Given the description of an element on the screen output the (x, y) to click on. 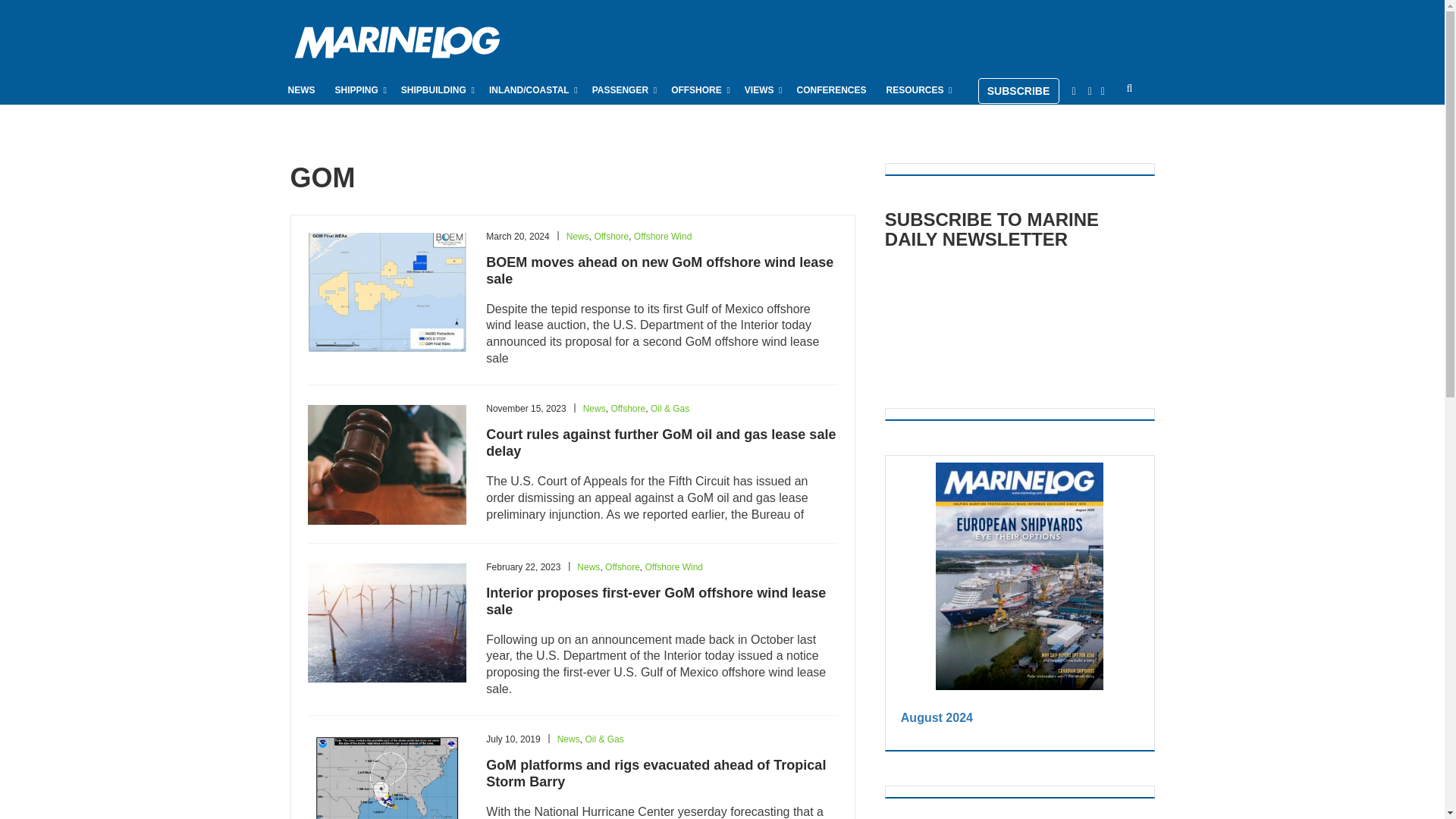
News (301, 89)
SUBSCRIBE (1018, 90)
Shipping (358, 89)
SHIPPING (358, 89)
NEWS (301, 89)
Shipbuilding (435, 89)
